Given the description of an element on the screen output the (x, y) to click on. 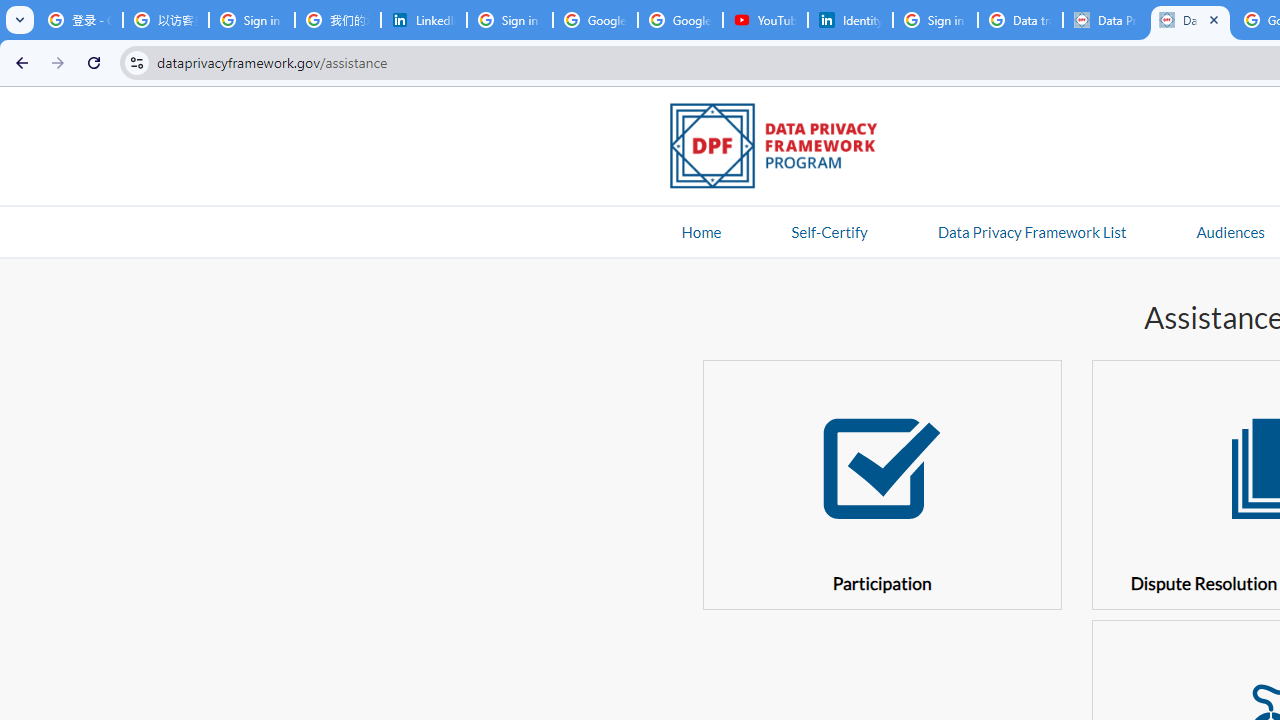
Sign in - Google Accounts (935, 20)
Data Privacy Framework (1105, 20)
AutomationID: navitem (1230, 231)
Sign in - Google Accounts (251, 20)
LinkedIn Privacy Policy (424, 20)
Self-Certify (829, 231)
 Participation (881, 484)
